Given the description of an element on the screen output the (x, y) to click on. 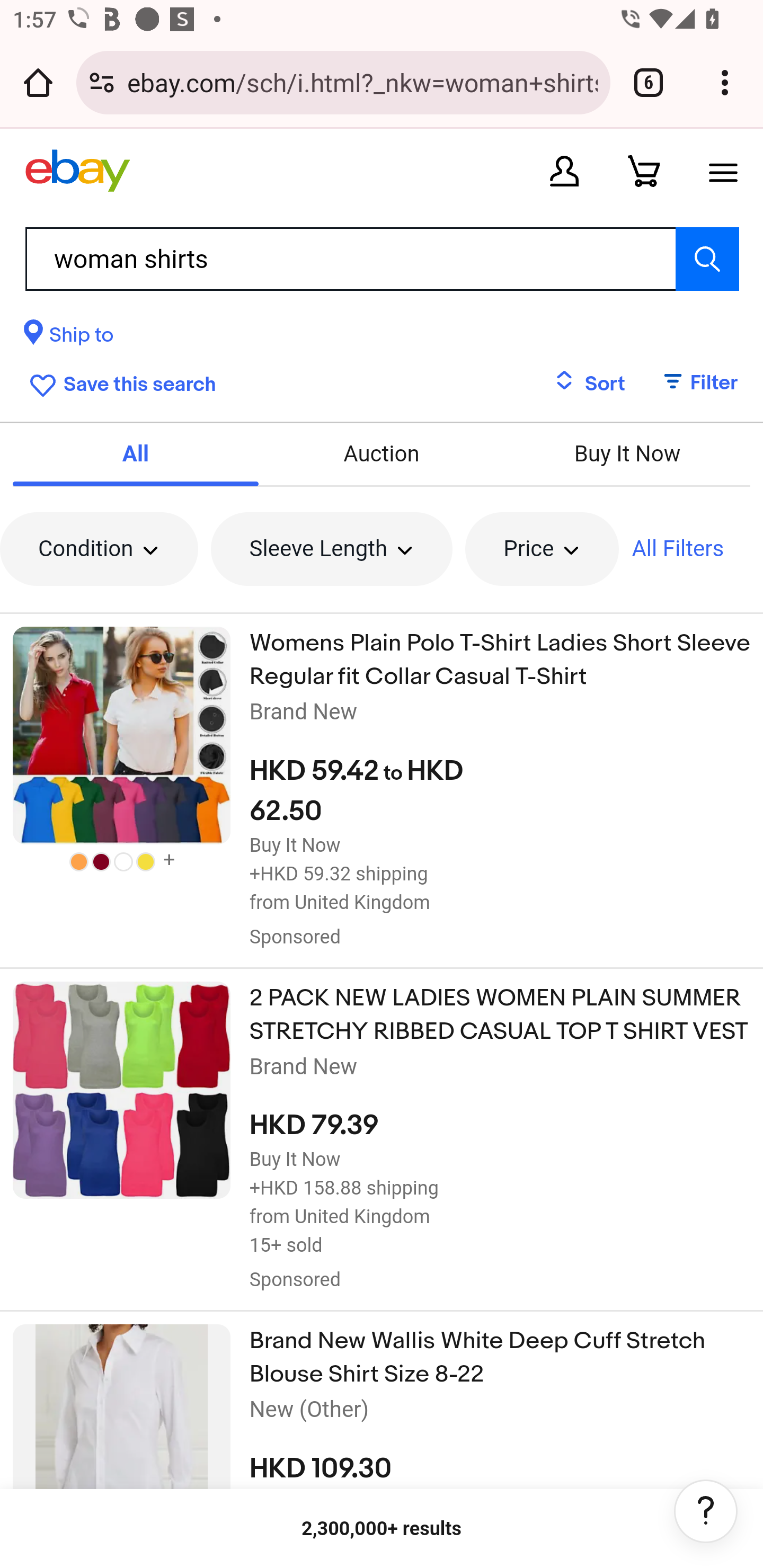
Open the home page (38, 82)
Connection is secure (101, 82)
Switch or close tabs (648, 82)
Customize and control Google Chrome (724, 82)
Open Menu (723, 170)
My eBay (564, 170)
Your shopping cart is empty (643, 170)
eBay Home (77, 170)
woman shirts (381, 258)
Search (707, 258)
Ship to  (68, 338)
Sort (589, 384)
Filter (690, 384)
Save this search woman shirts search (118, 382)
All selected (135, 453)
Auction (381, 453)
Buy It Now (626, 453)
Condition (99, 548)
Sleeve Length (331, 548)
Price (541, 548)
All Filters (677, 548)
Help (705, 1511)
